Given the description of an element on the screen output the (x, y) to click on. 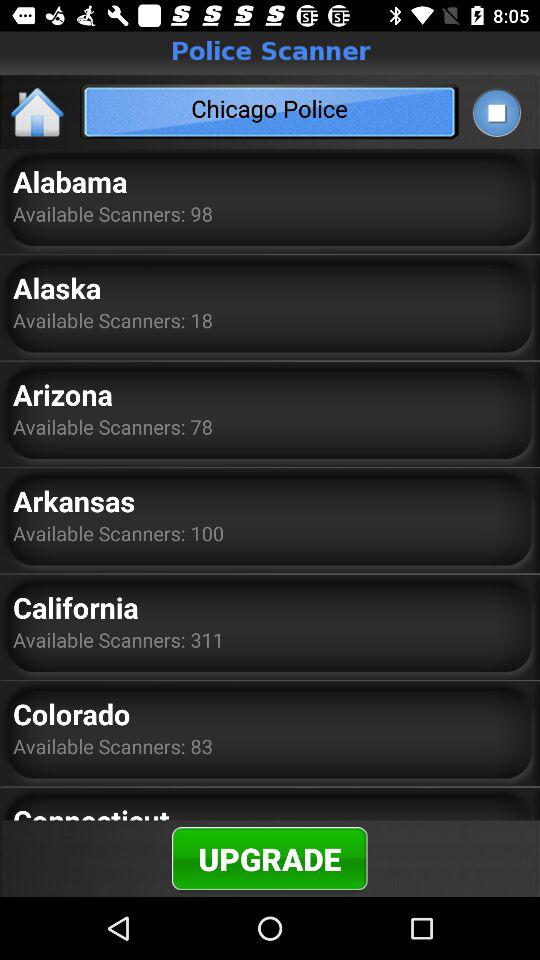
turn on the item below available scanners: 100 app (75, 607)
